Given the description of an element on the screen output the (x, y) to click on. 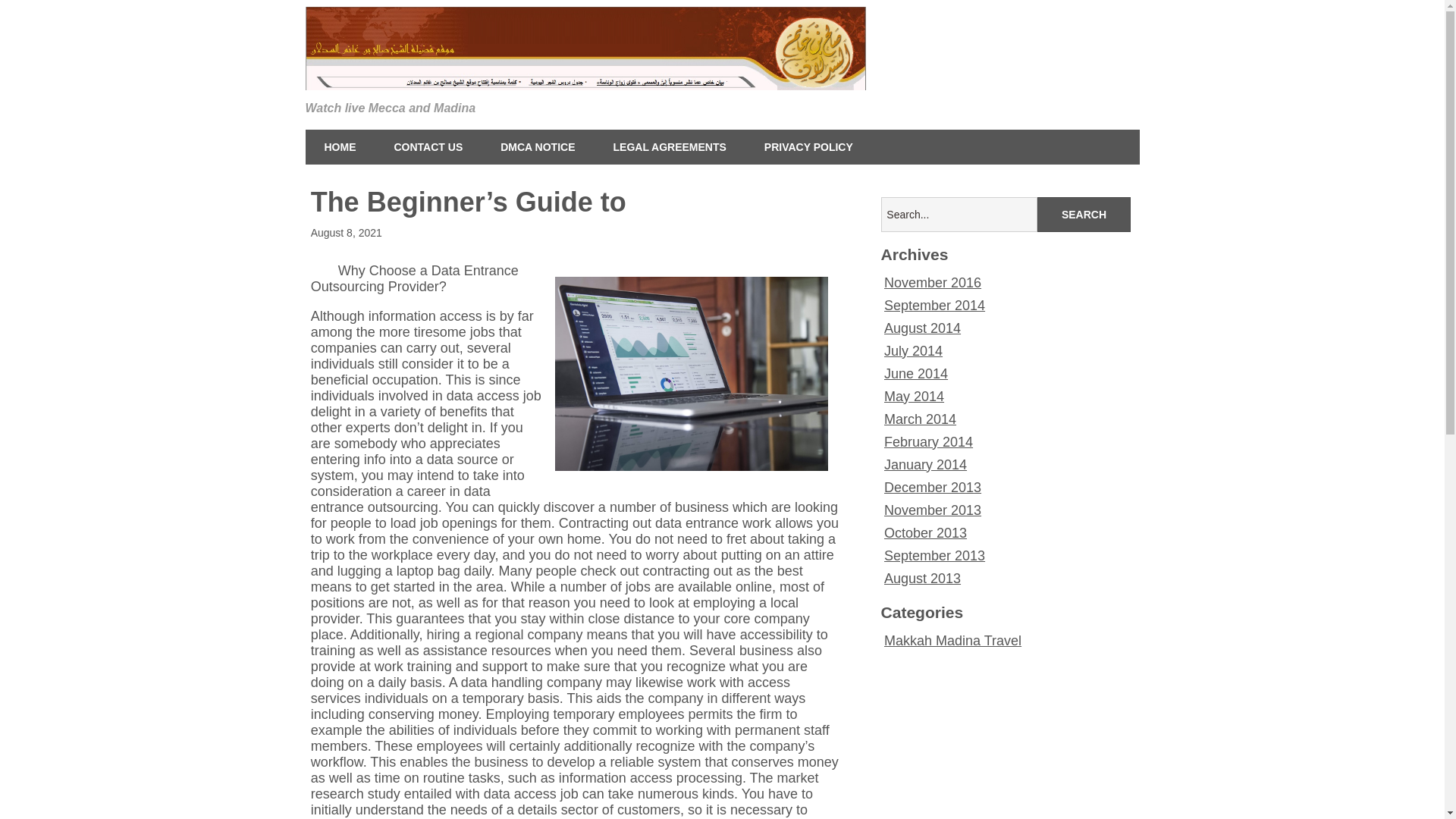
CONTACT US (427, 146)
HOME (339, 146)
LEGAL AGREEMENTS (669, 146)
DMCA NOTICE (537, 146)
